Given the description of an element on the screen output the (x, y) to click on. 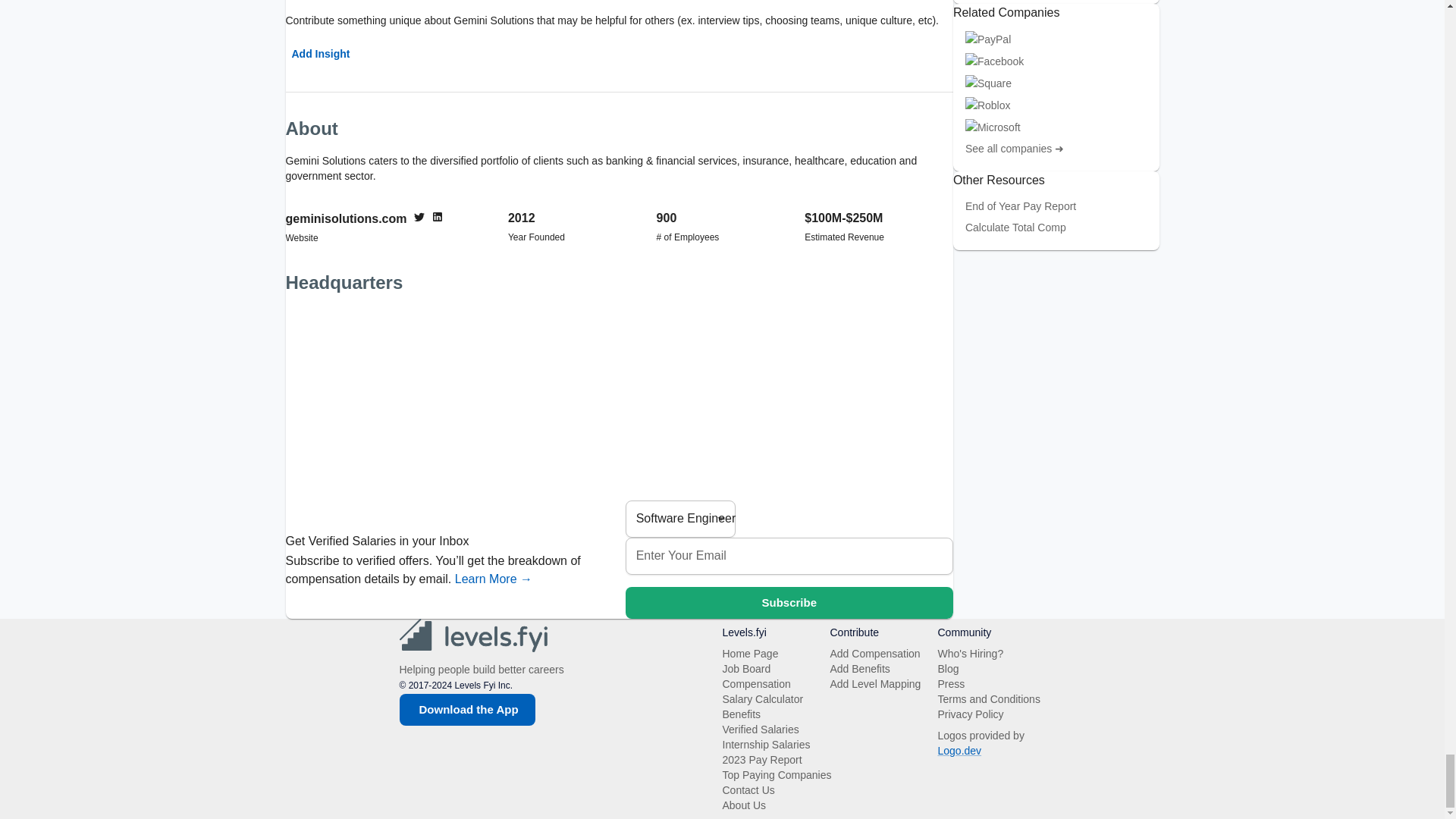
Company Address (618, 401)
